Given the description of an element on the screen output the (x, y) to click on. 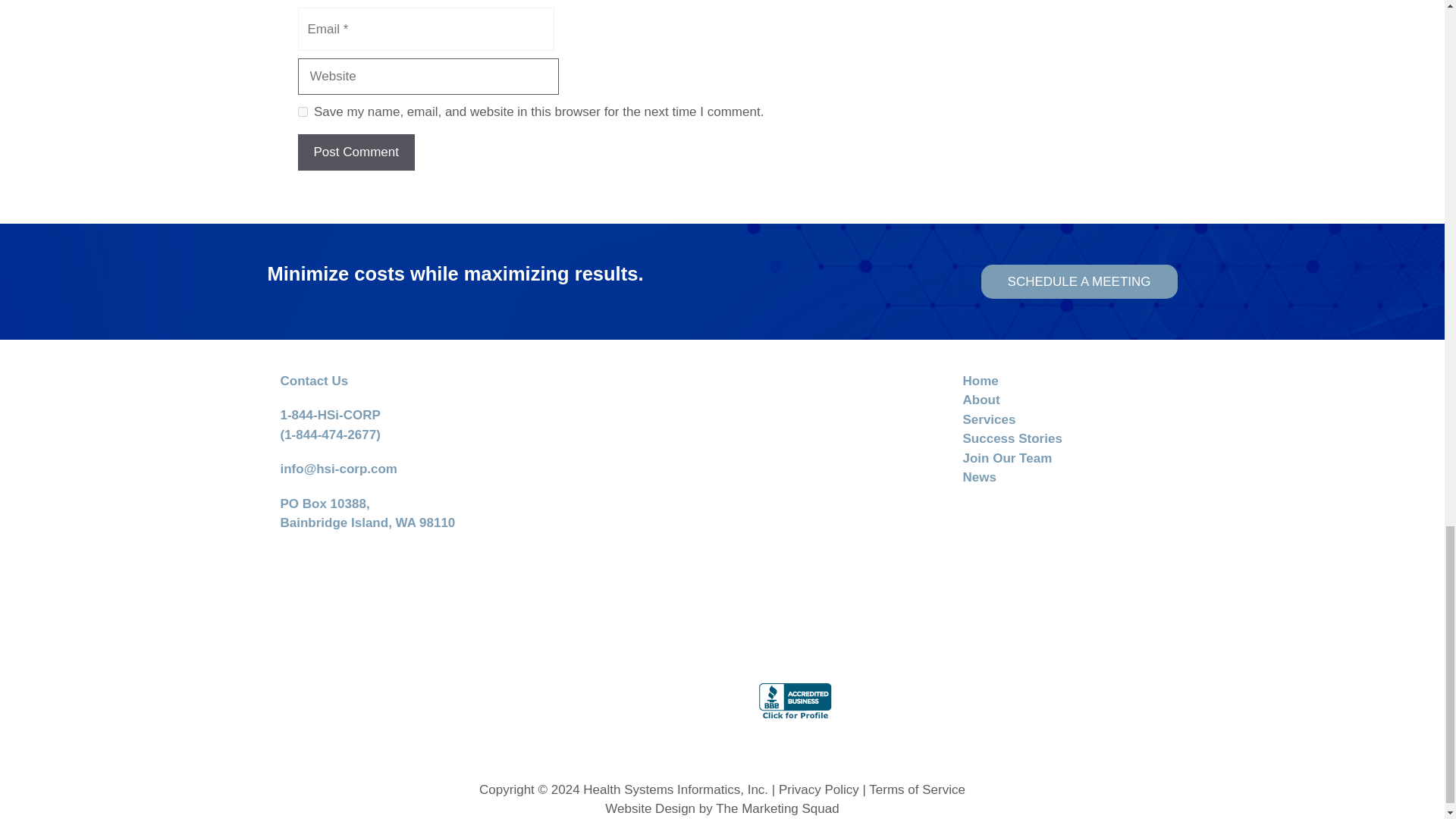
Services (989, 419)
The Marketing Squad (778, 808)
yes (302, 112)
Terms of Service (917, 789)
Join Our Team (1007, 458)
Scroll back to top (1406, 18)
About (981, 400)
Post Comment (355, 152)
SCHEDULE A MEETING (1079, 281)
News (978, 477)
